Given the description of an element on the screen output the (x, y) to click on. 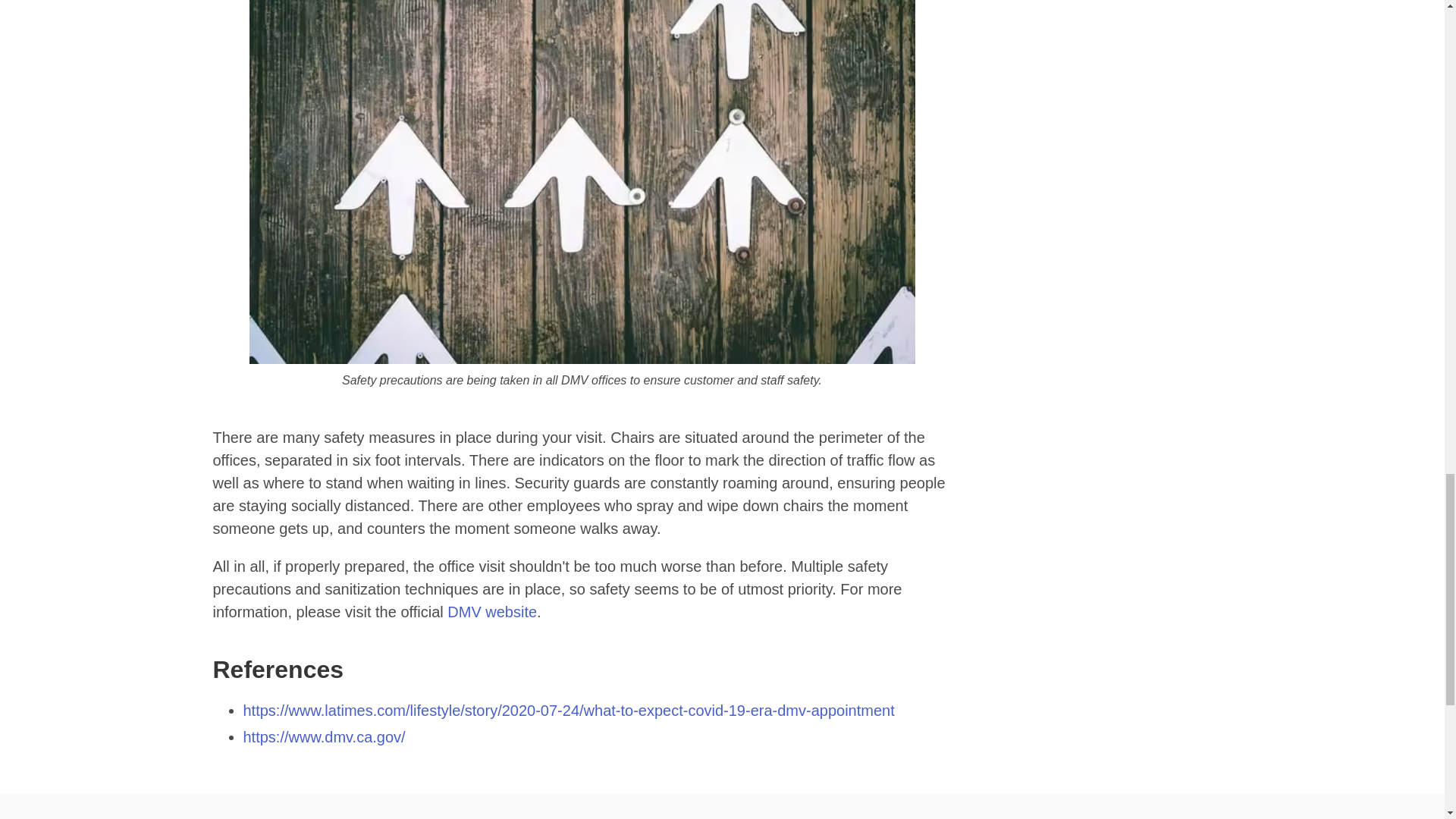
DMV Website (491, 611)
DMV website (491, 611)
